Given the description of an element on the screen output the (x, y) to click on. 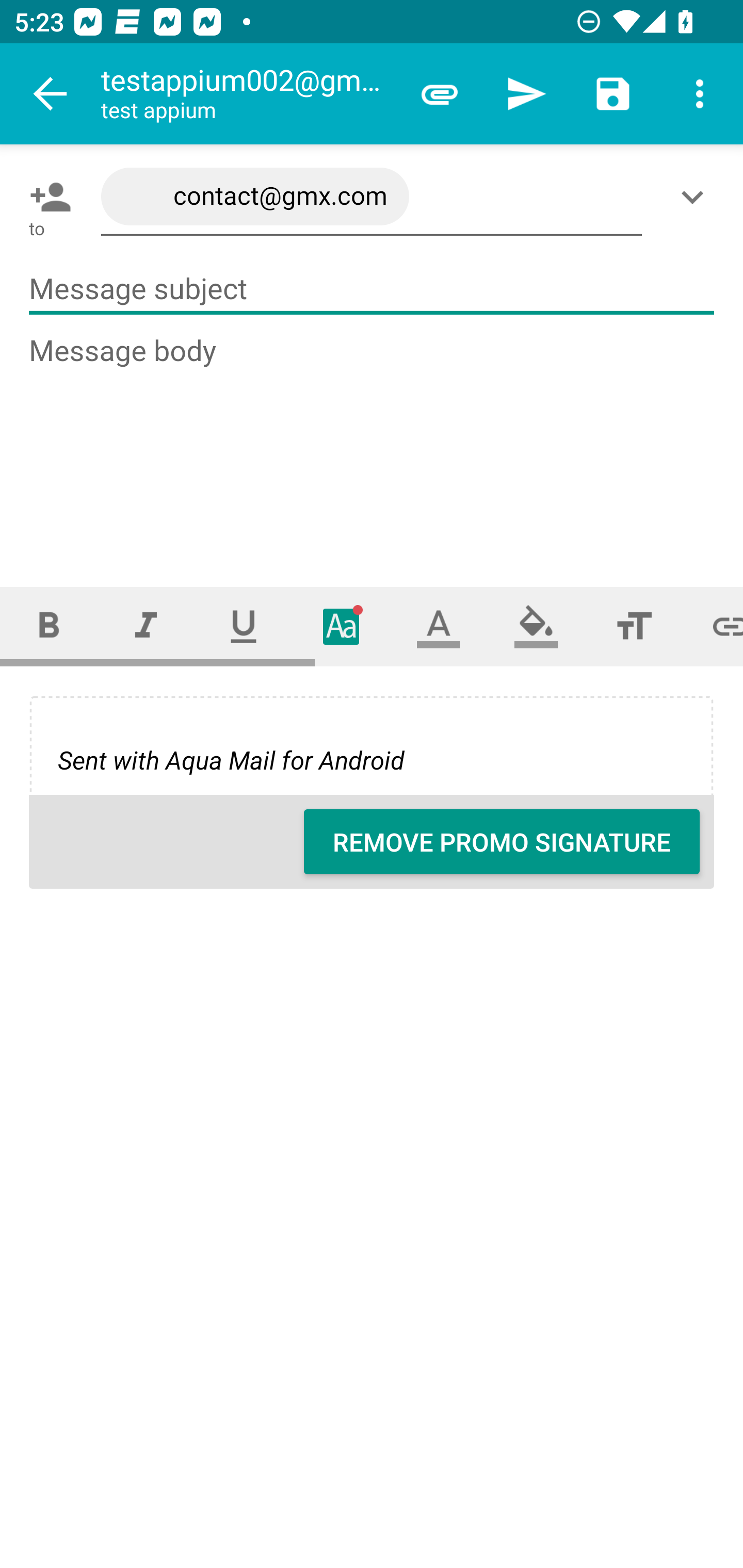
Navigate up (50, 93)
testappium002@gmail.com test appium (248, 93)
Attach (439, 93)
Send (525, 93)
Save (612, 93)
More options (699, 93)
contact@gmx.com,  (371, 197)
Pick contact: To (46, 196)
Show/Add CC/BCC (696, 196)
Message subject (371, 288)
Message body (372, 442)
Bold (48, 626)
Italic (145, 626)
Underline (243, 626)
Typeface (font) (341, 626)
Text color (438, 626)
Fill color (536, 626)
Font size (633, 626)
Set link (712, 626)
REMOVE PROMO SIGNATURE (501, 841)
